Given the description of an element on the screen output the (x, y) to click on. 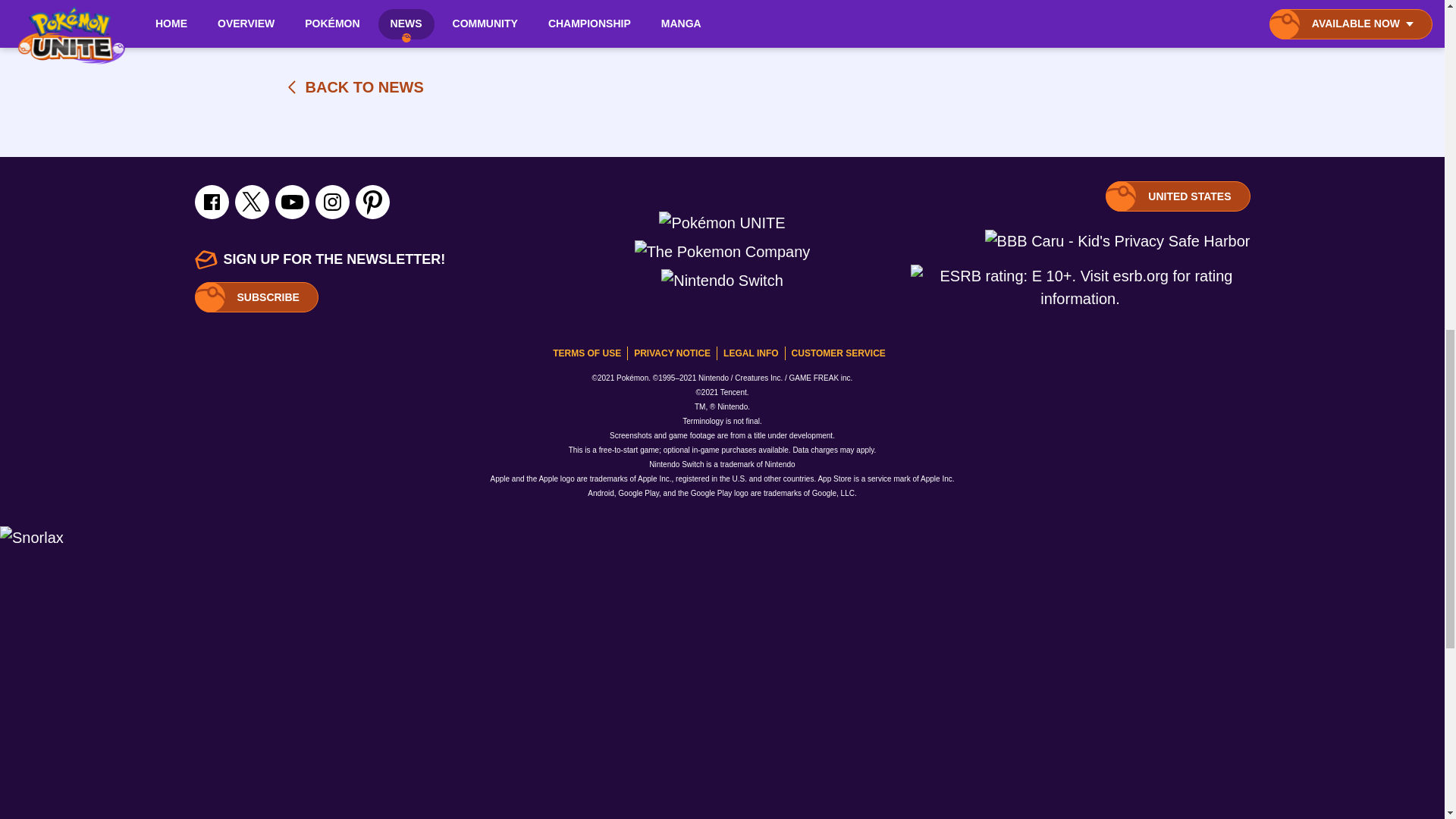
LEGAL INFO (750, 353)
PRIVACY NOTICE (1177, 195)
CUSTOMER SERVICE (672, 353)
BACK TO NEWS (838, 353)
SUBSCRIBE (353, 87)
TERMS OF USE (255, 296)
